Given the description of an element on the screen output the (x, y) to click on. 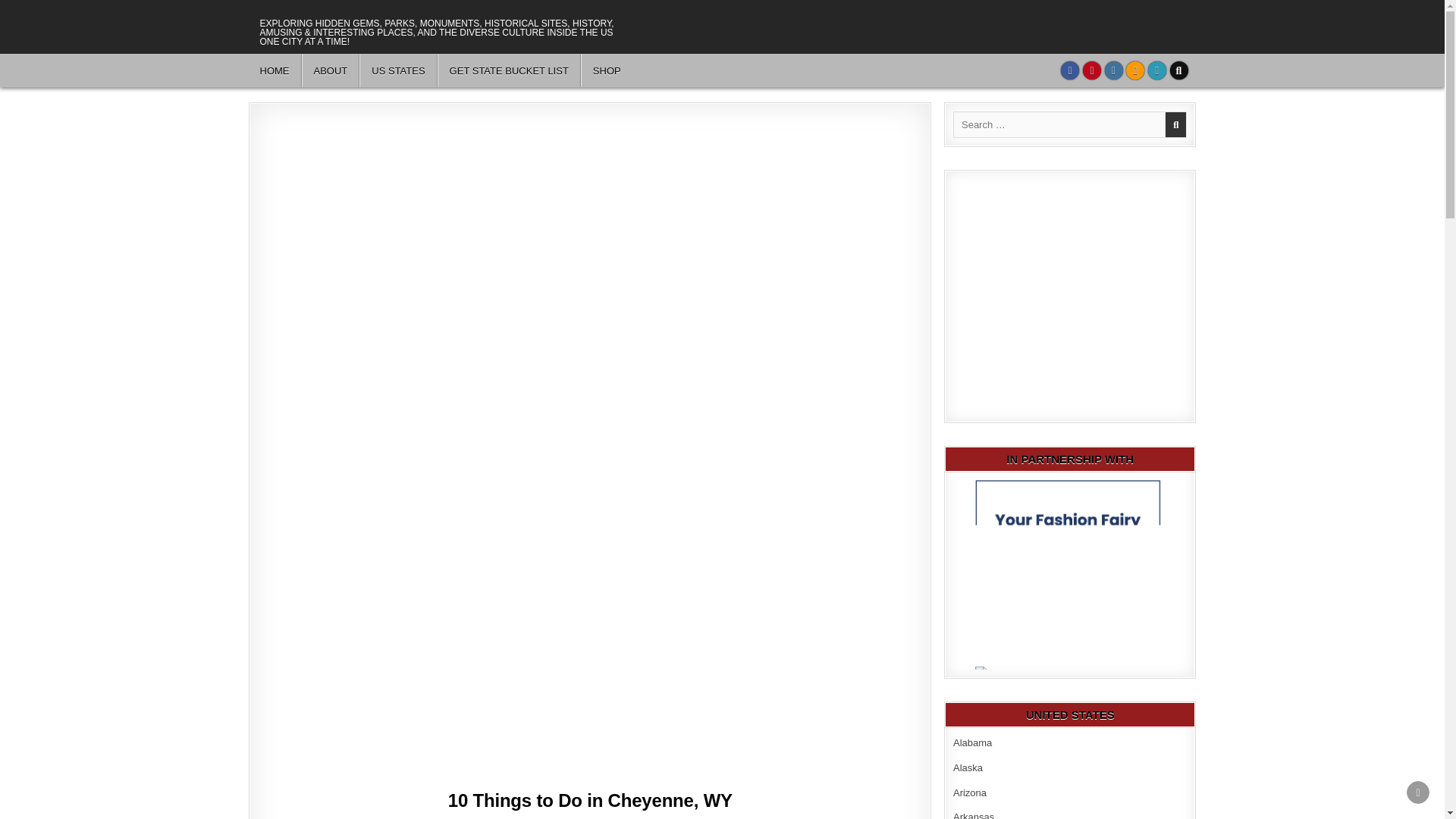
10 Things to Do in Cheyenne, WY (590, 800)
GET STATE BUCKET LIST (509, 70)
ABOUT (330, 70)
SHOP (605, 70)
HOME (274, 70)
SCROLL TO TOP (1417, 792)
US STATES (397, 70)
